Given the description of an element on the screen output the (x, y) to click on. 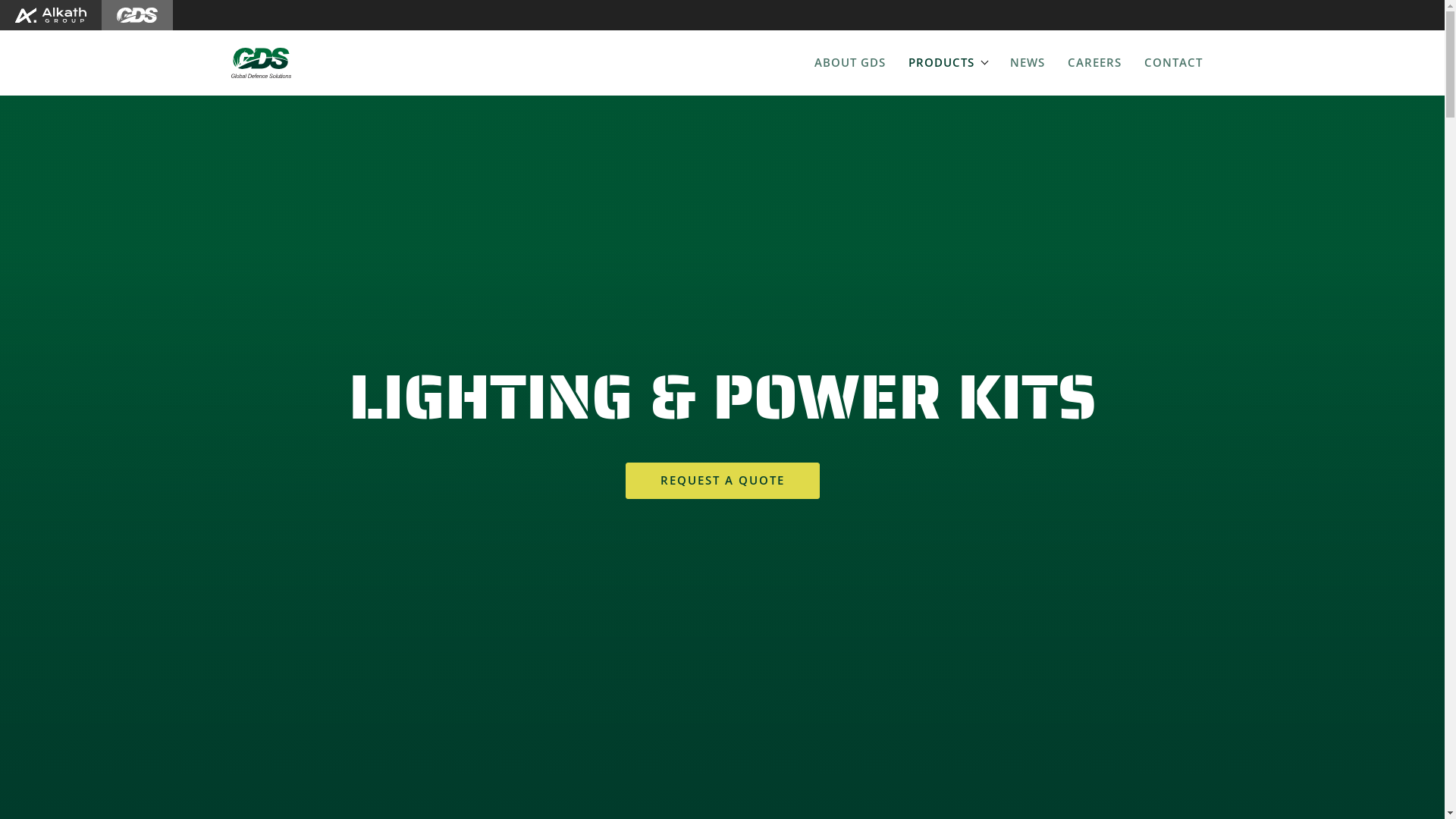
NEWS Element type: text (1026, 62)
PRODUCTS Element type: text (946, 62)
CAREERS Element type: text (1093, 62)
REQUEST A QUOTE Element type: text (721, 480)
CONTACT Element type: text (1173, 62)
ABOUT GDS Element type: text (849, 62)
